Given the description of an element on the screen output the (x, y) to click on. 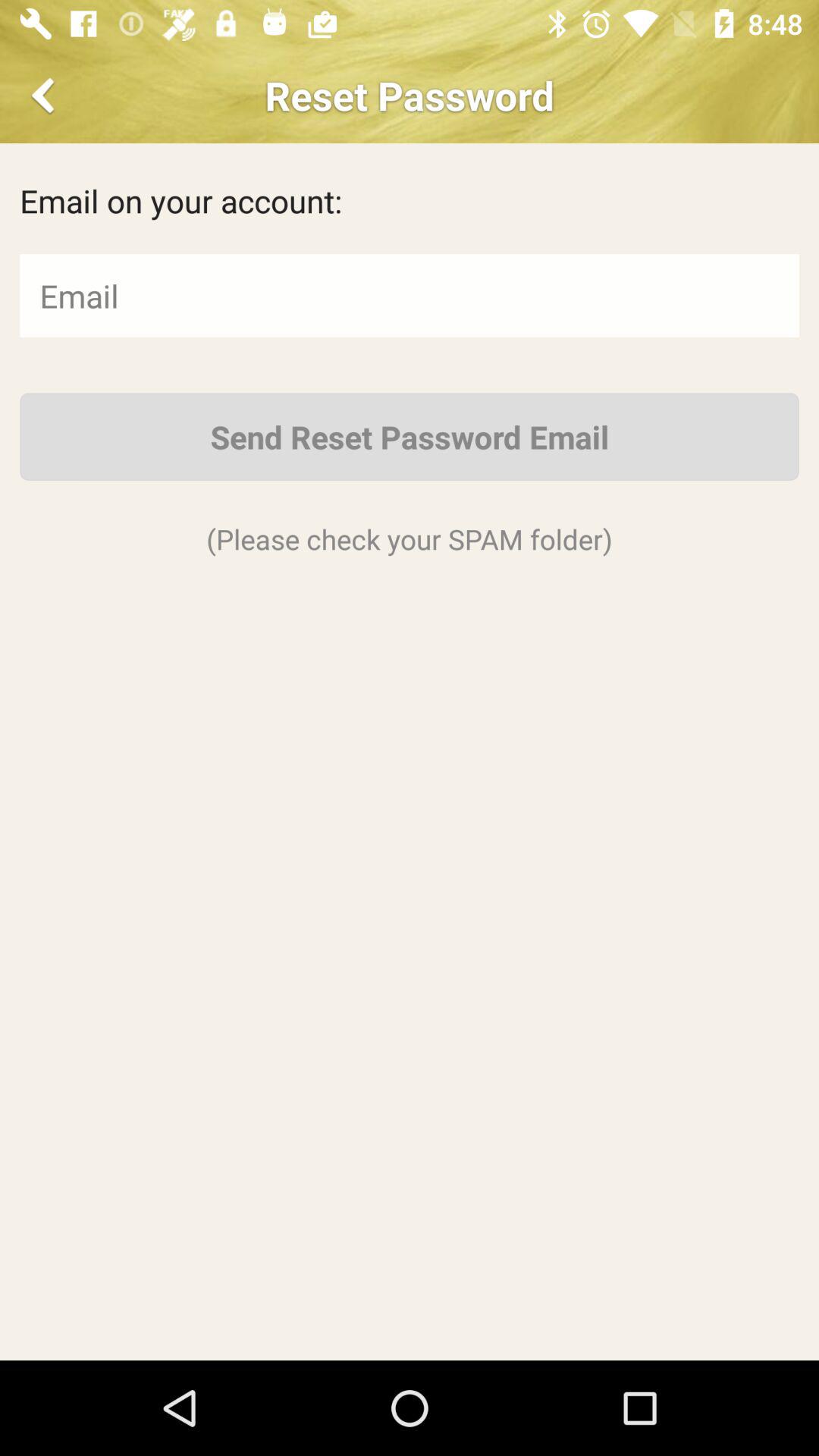
launch item above email on your item (45, 95)
